Given the description of an element on the screen output the (x, y) to click on. 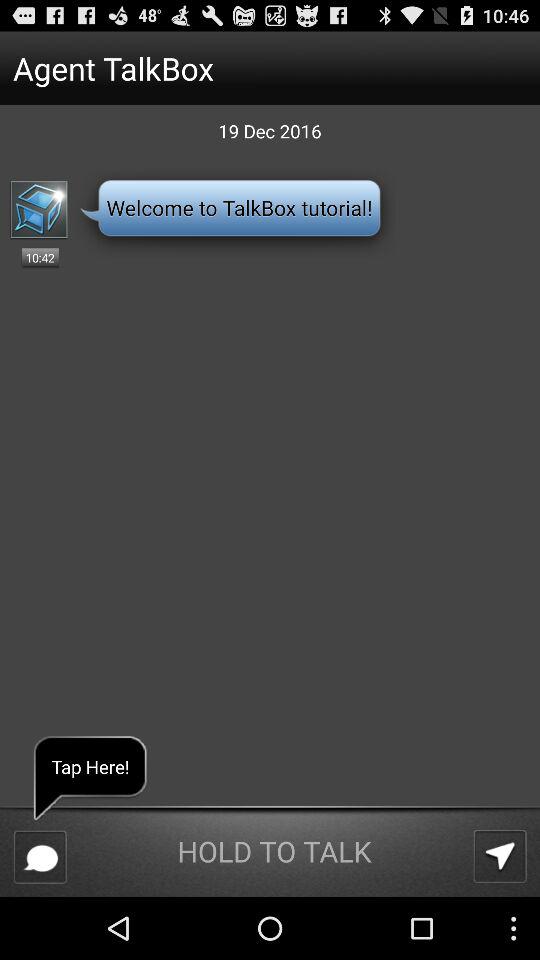
choose the app below 19 dec 2016 item (499, 856)
